Given the description of an element on the screen output the (x, y) to click on. 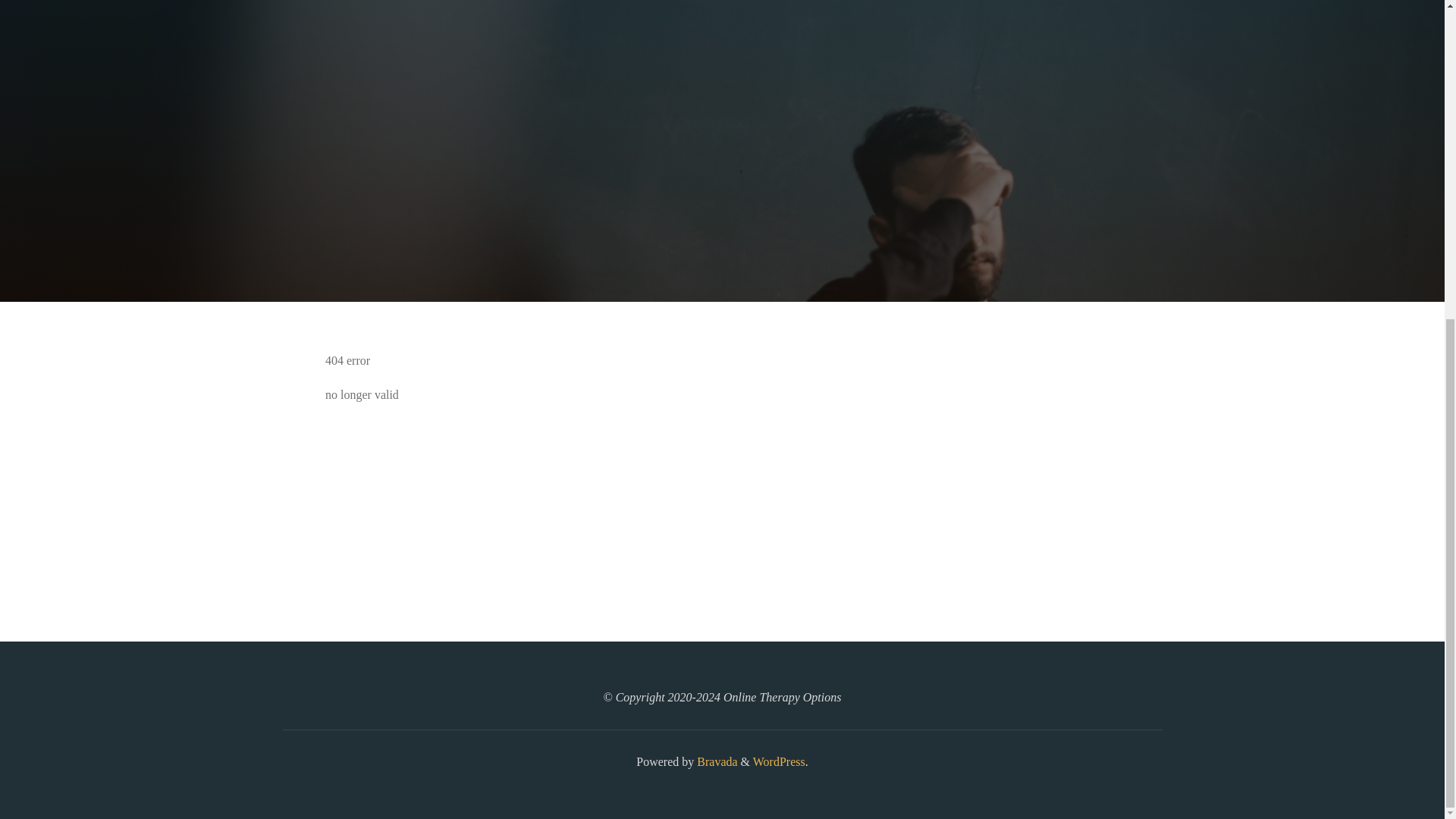
WordPress (778, 761)
Bravada WordPress Theme by Cryout Creations (715, 761)
Semantic Personal Publishing Platform (778, 761)
Read more (721, 207)
Bravada (715, 761)
